Given the description of an element on the screen output the (x, y) to click on. 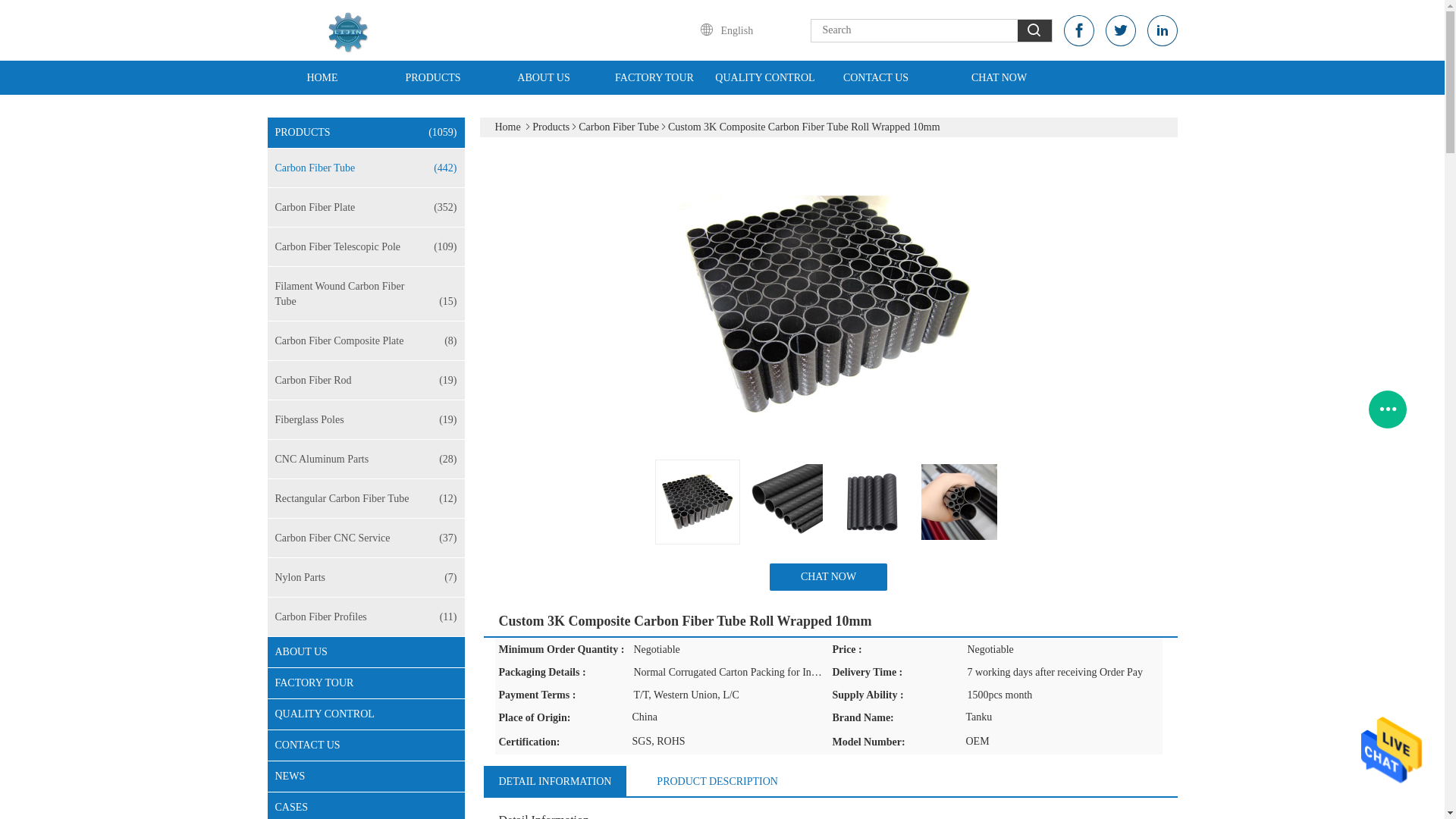
HOME (321, 77)
ABOUT US (542, 77)
QUALITY CONTROL (764, 77)
PRODUCTS (432, 77)
FACTORY TOUR (653, 77)
